Given the description of an element on the screen output the (x, y) to click on. 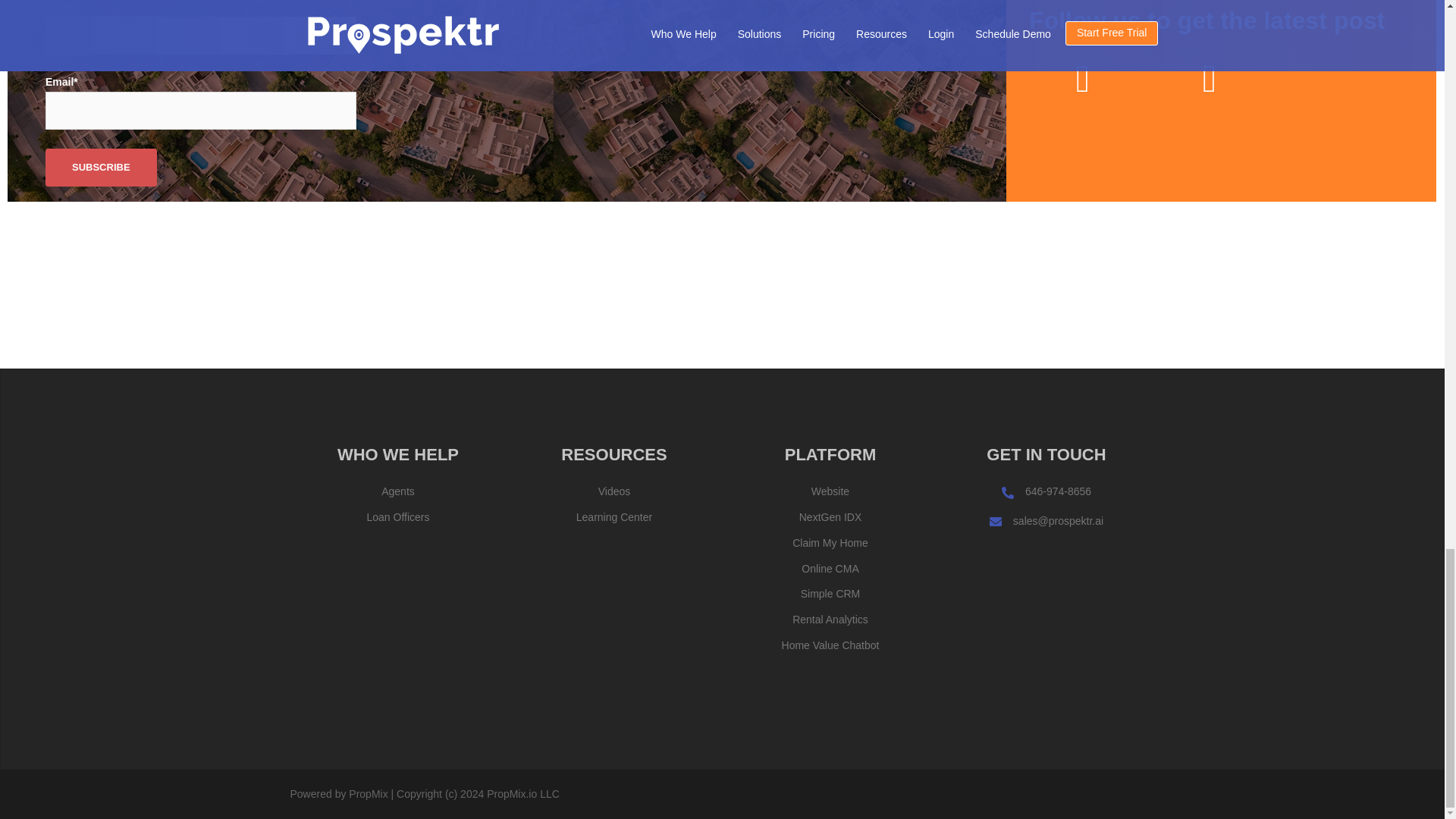
Subscribe (101, 167)
Subscribe (101, 167)
